Given the description of an element on the screen output the (x, y) to click on. 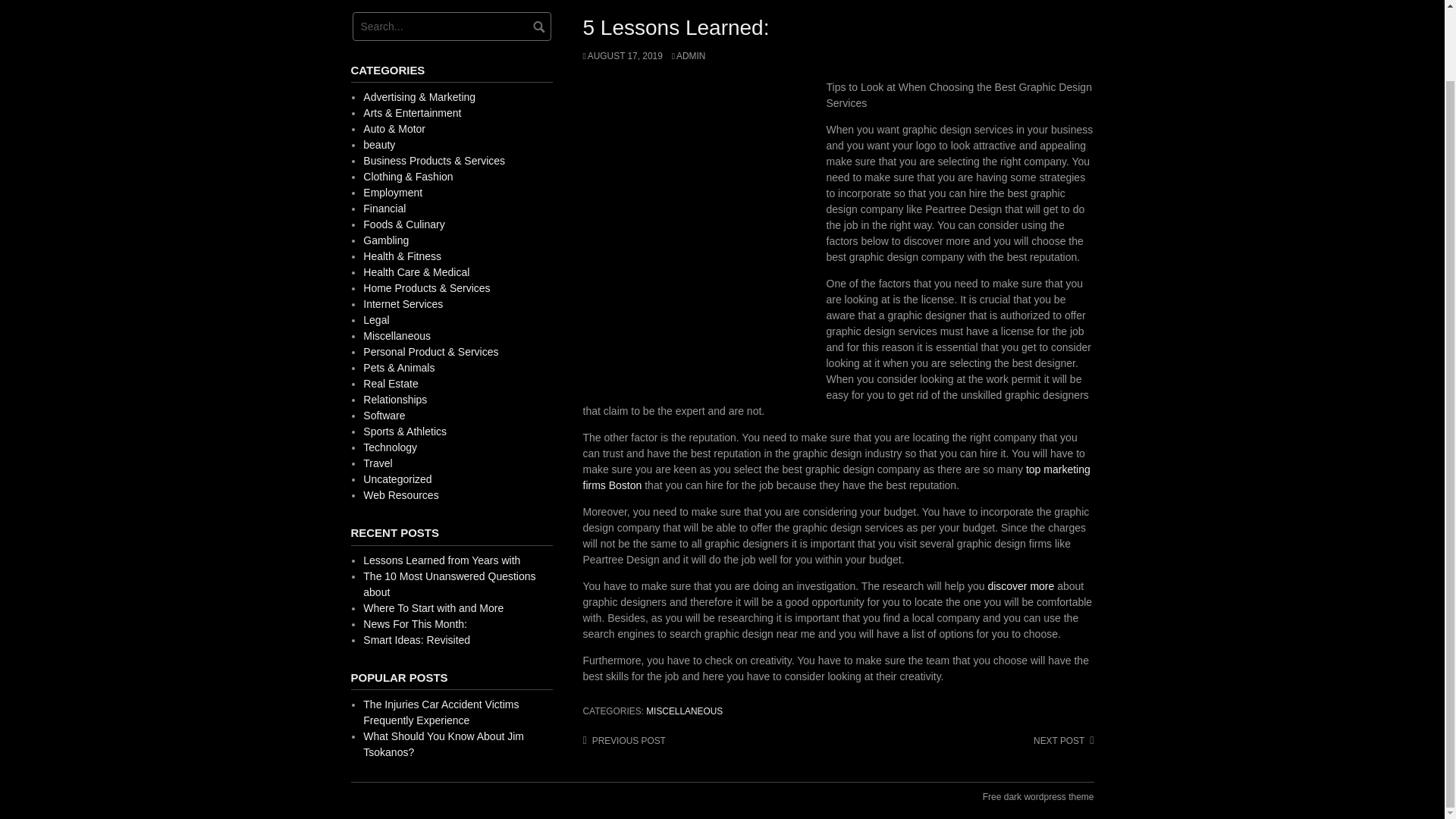
Lessons Learned from Years with (440, 560)
Web Resources (400, 494)
ADMIN (688, 55)
AUGUST 17, 2019 (622, 55)
beauty (378, 144)
Travel (376, 463)
Internet Services (402, 304)
Real Estate (389, 383)
Gambling (385, 240)
Uncategorized (396, 479)
